Given the description of an element on the screen output the (x, y) to click on. 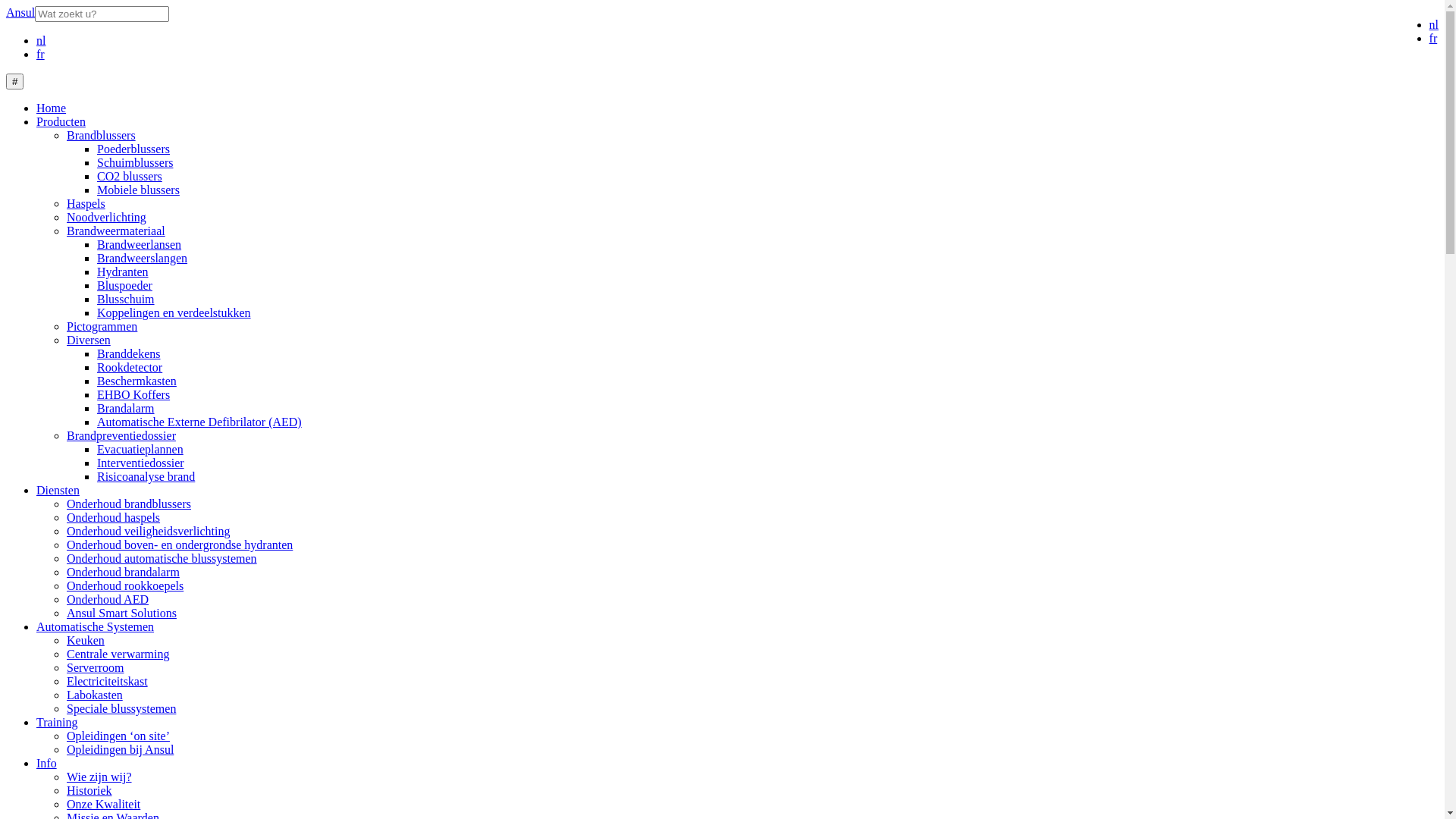
nl Element type: text (40, 40)
Poederblussers Element type: text (133, 148)
Brandalarm Element type: text (125, 407)
Historiek Element type: text (89, 790)
Bluspoeder Element type: text (124, 285)
Ansul Smart Solutions Element type: text (121, 612)
Brandpreventiedossier Element type: text (120, 435)
Training Element type: text (57, 721)
Automatische Systemen Element type: text (94, 626)
# Element type: text (14, 81)
Onderhoud brandblussers Element type: text (128, 503)
nl Element type: text (1433, 24)
Electriciteitskast Element type: text (106, 680)
fr Element type: text (1433, 37)
Opleidingen bij Ansul Element type: text (119, 749)
Serverroom Element type: text (95, 667)
Risicoanalyse brand Element type: text (145, 476)
Mobiele blussers Element type: text (138, 189)
Labokasten Element type: text (94, 694)
Blusschuim Element type: text (125, 298)
Rookdetector Element type: text (129, 366)
Home Element type: text (50, 107)
Hydranten Element type: text (122, 271)
Koppelingen en verdeelstukken Element type: text (174, 312)
Onderhoud boven- en ondergrondse hydranten Element type: text (179, 544)
Brandweerslangen Element type: text (142, 257)
Noodverlichting Element type: text (106, 216)
Ansul Element type: text (20, 12)
EHBO Koffers Element type: text (133, 394)
Diensten Element type: text (57, 489)
Interventiedossier Element type: text (140, 462)
Onderhoud veiligheidsverlichting Element type: text (148, 530)
Onderhoud brandalarm Element type: text (122, 571)
Centrale verwarming Element type: text (117, 653)
Automatische Externe Defibrilator (AED) Element type: text (199, 421)
Speciale blussystemen Element type: text (120, 708)
Schuimblussers Element type: text (134, 162)
Info Element type: text (46, 762)
Beschermkasten Element type: text (136, 380)
Onderhoud AED Element type: text (107, 599)
Keuken Element type: text (85, 639)
Onderhoud haspels Element type: text (113, 517)
Pictogrammen Element type: text (101, 326)
Onderhoud automatische blussystemen Element type: text (161, 558)
Onderhoud rookkoepels Element type: text (124, 585)
CO2 blussers Element type: text (129, 175)
Evacuatieplannen Element type: text (140, 448)
Onze Kwaliteit Element type: text (103, 803)
Brandweerlansen Element type: text (139, 244)
Producten Element type: text (60, 121)
Branddekens Element type: text (128, 353)
Wie zijn wij? Element type: text (98, 776)
Haspels Element type: text (85, 203)
Diversen Element type: text (88, 339)
fr Element type: text (40, 53)
Brandblussers Element type: text (100, 134)
Brandweermateriaal Element type: text (115, 230)
